Given the description of an element on the screen output the (x, y) to click on. 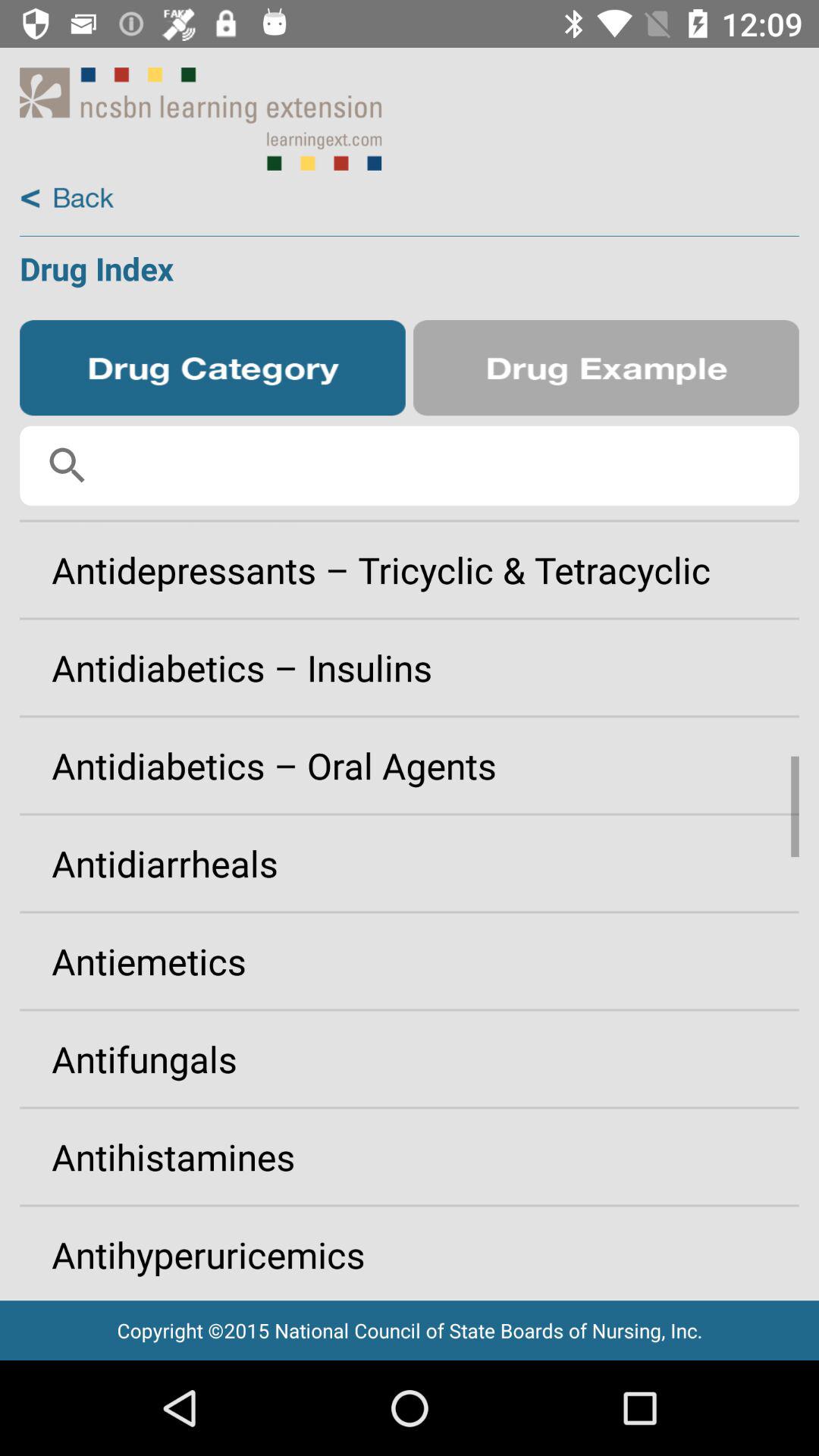
drug category (212, 367)
